Given the description of an element on the screen output the (x, y) to click on. 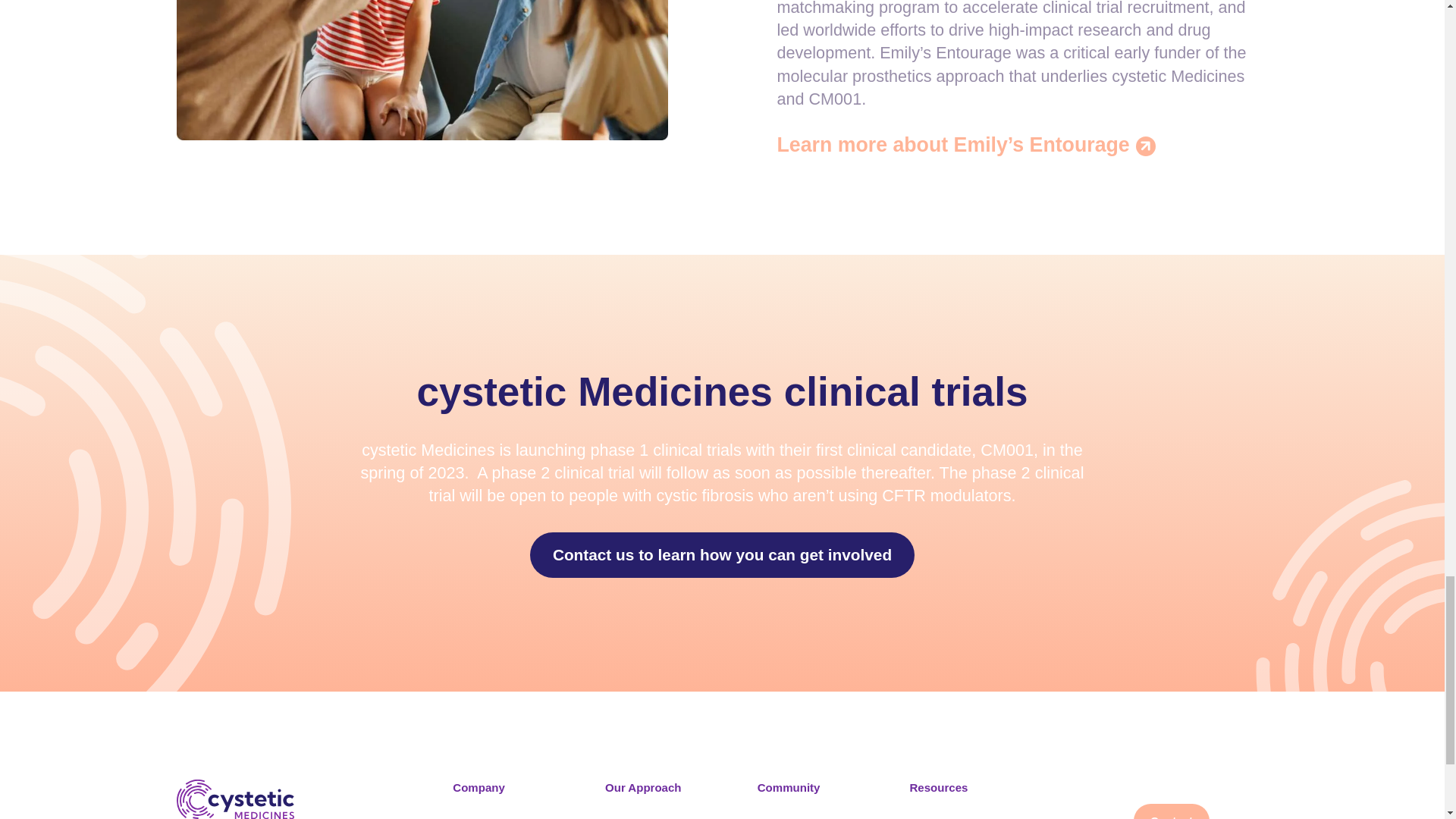
Resources (973, 787)
Contact us to learn how you can get involved (721, 555)
Our Approach (668, 787)
Community (820, 787)
Contact (1171, 811)
Company (515, 787)
